Given the description of an element on the screen output the (x, y) to click on. 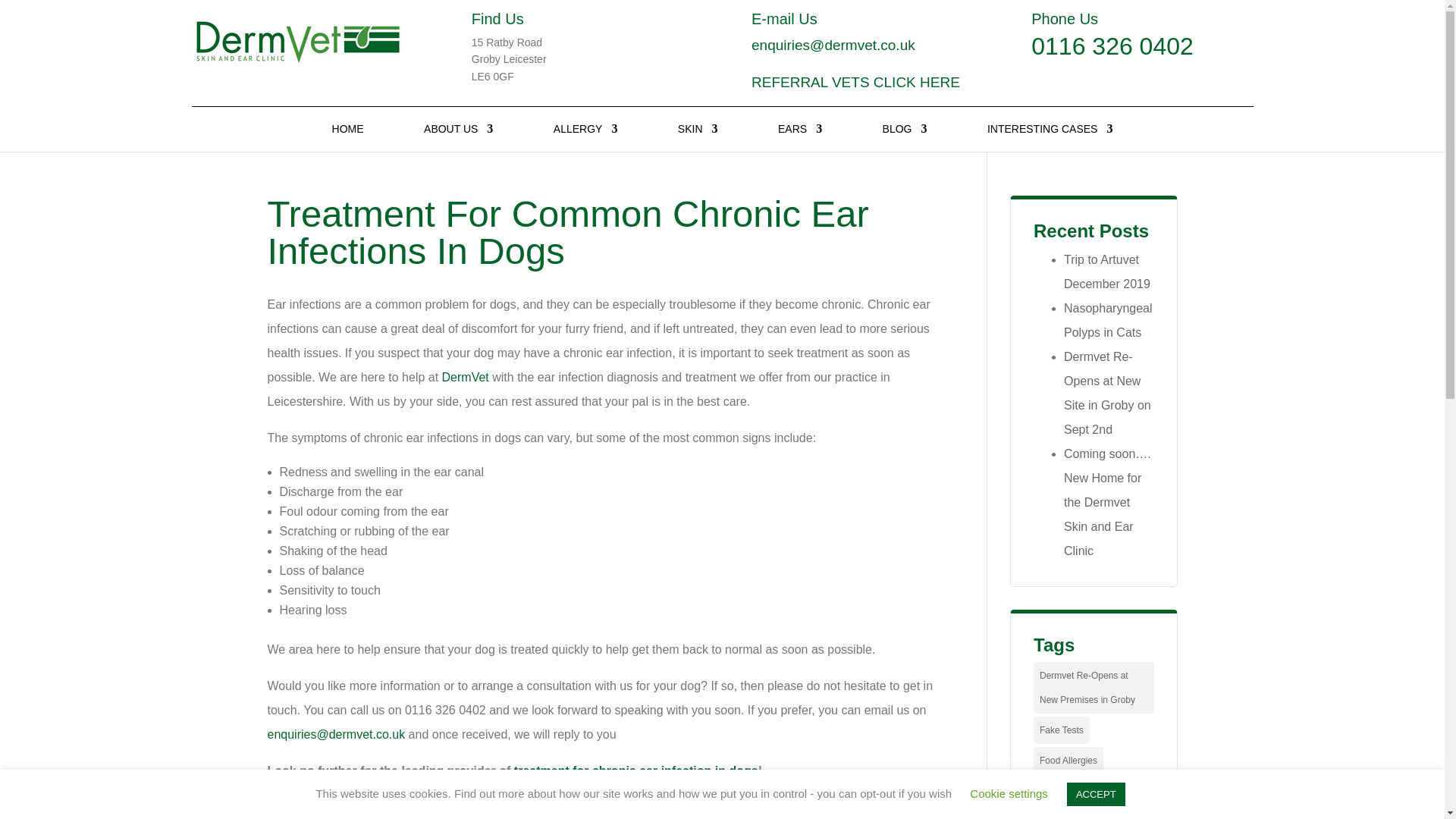
SKIN (697, 137)
BLOG (904, 137)
REFERRAL VETS CLICK HERE (855, 82)
HOME (347, 137)
ALLERGY (585, 137)
ABOUT US (458, 137)
INTERESTING CASES (1049, 137)
0116 326 0402 (1111, 45)
EARS (799, 137)
